Given the description of an element on the screen output the (x, y) to click on. 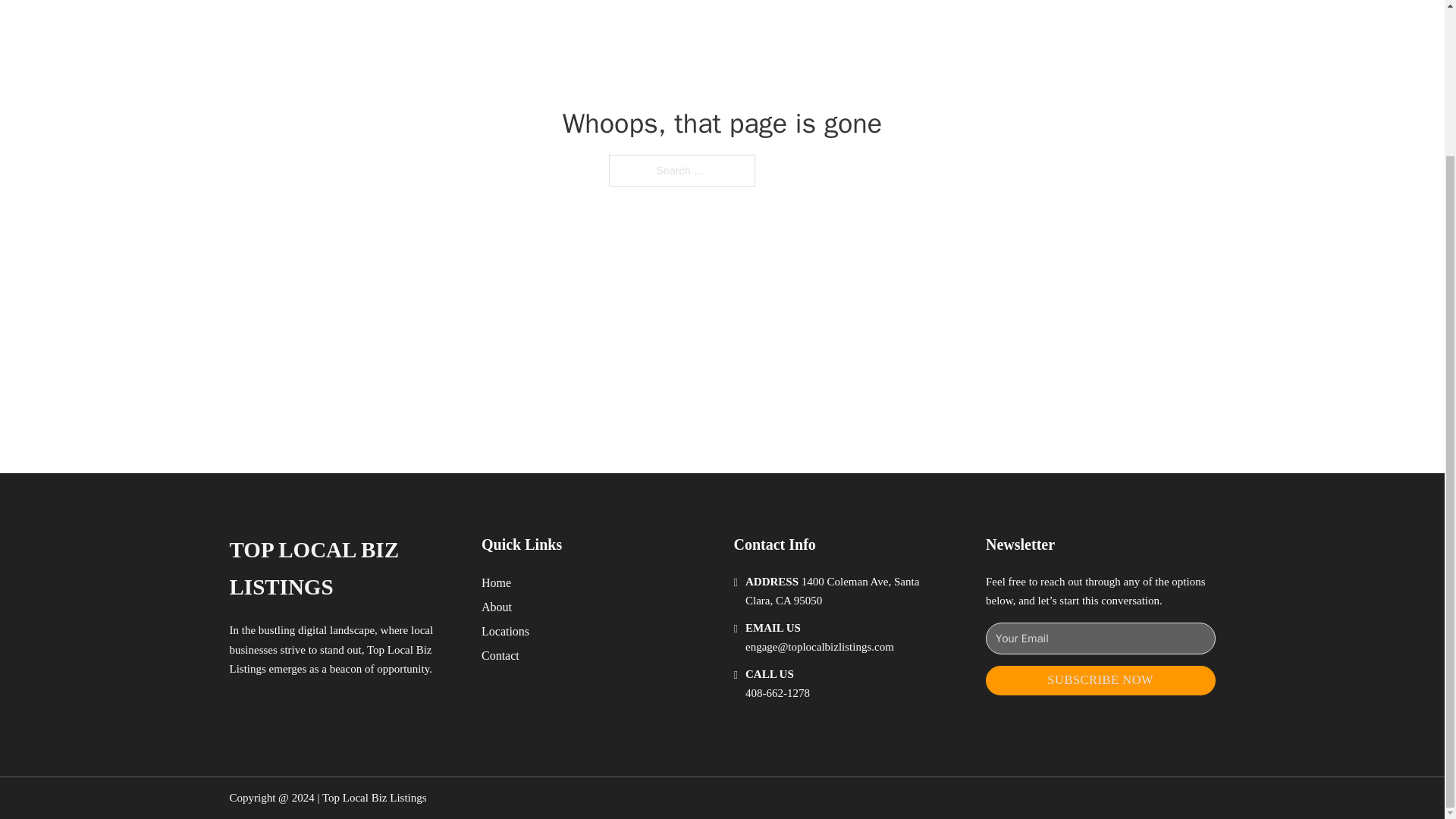
Home (496, 582)
Locations (505, 630)
About (496, 607)
SUBSCRIBE NOW (1100, 680)
TOP LOCAL BIZ LISTINGS (343, 568)
Contact (500, 655)
408-662-1278 (777, 693)
